Given the description of an element on the screen output the (x, y) to click on. 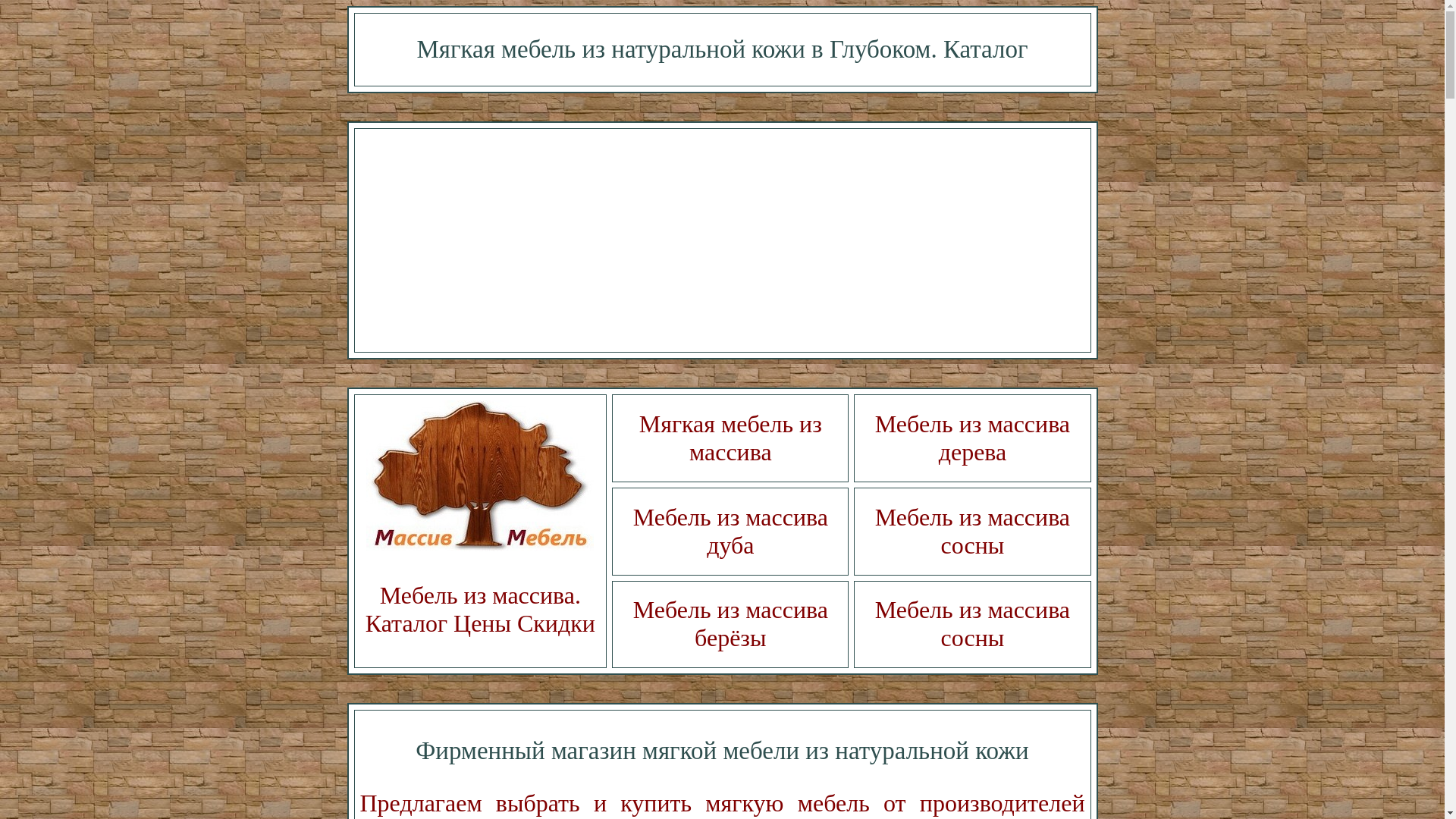
Advertisement Element type: hover (721, 240)
